Given the description of an element on the screen output the (x, y) to click on. 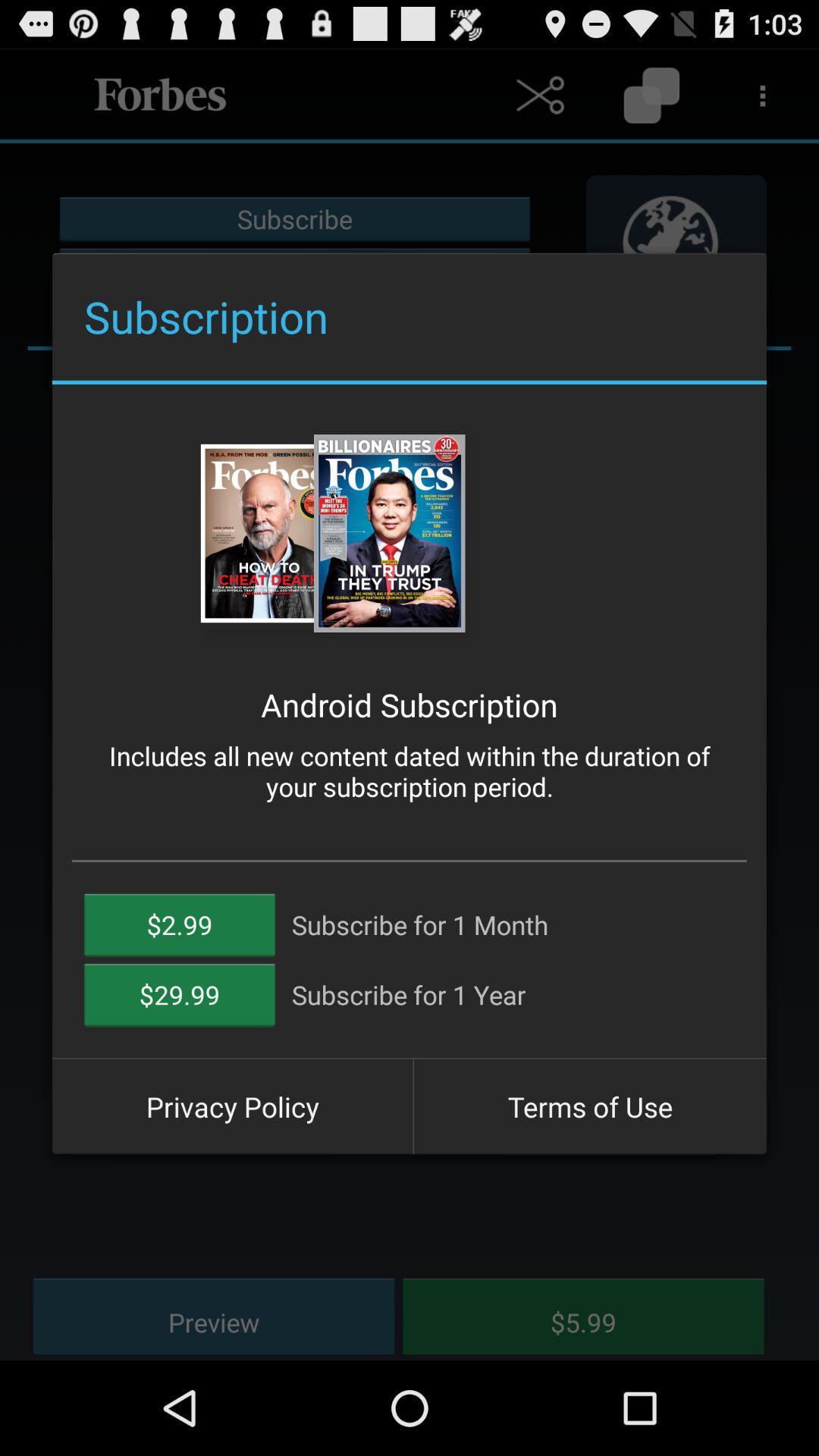
press the privacy policy icon (232, 1106)
